Given the description of an element on the screen output the (x, y) to click on. 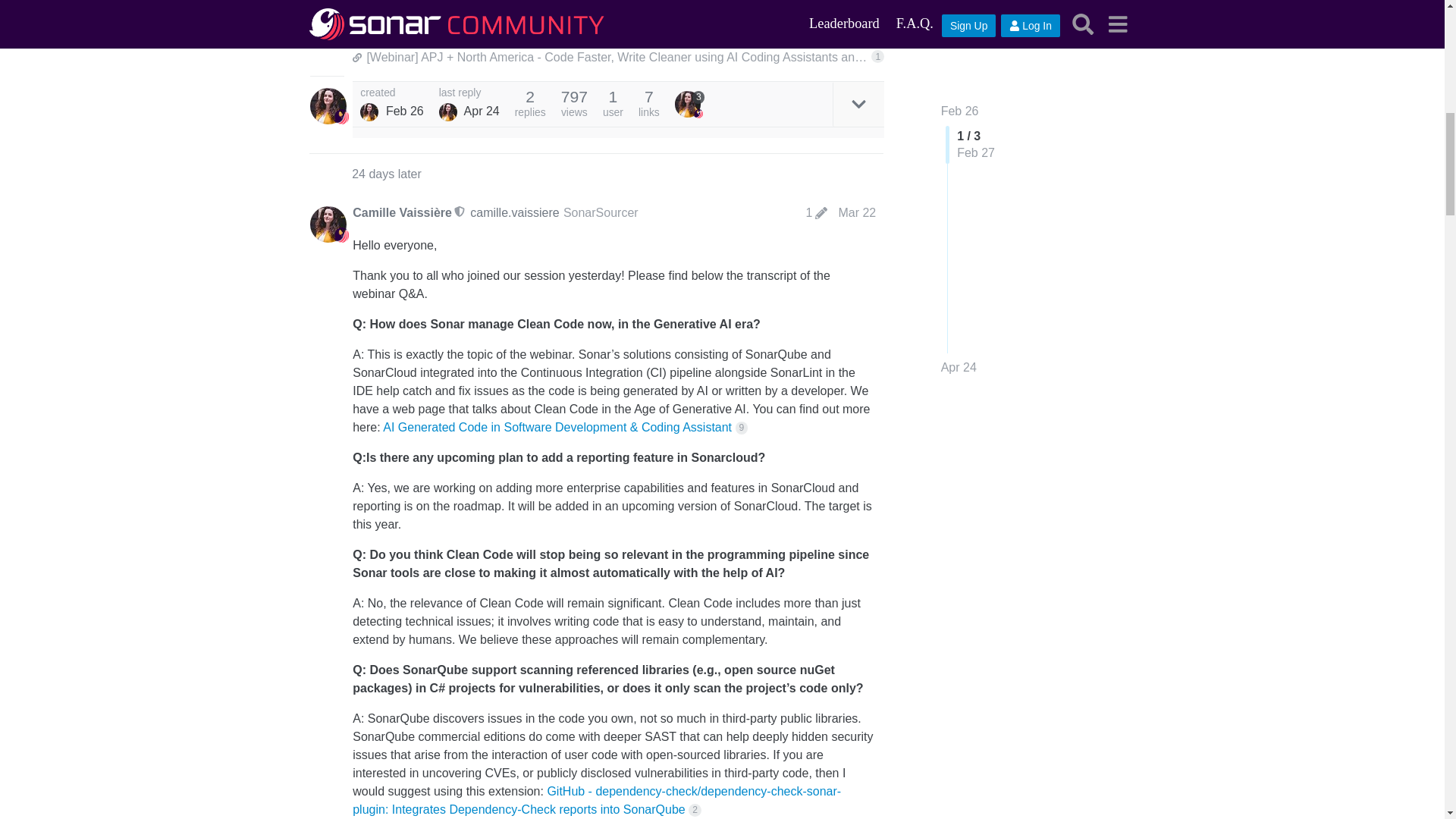
Please sign up or log in to like this post (835, 10)
Mar 22 (857, 212)
camille.vaissiere (514, 212)
SonarSourcer (601, 212)
1 (817, 213)
last reply (469, 92)
3 (689, 103)
